Given the description of an element on the screen output the (x, y) to click on. 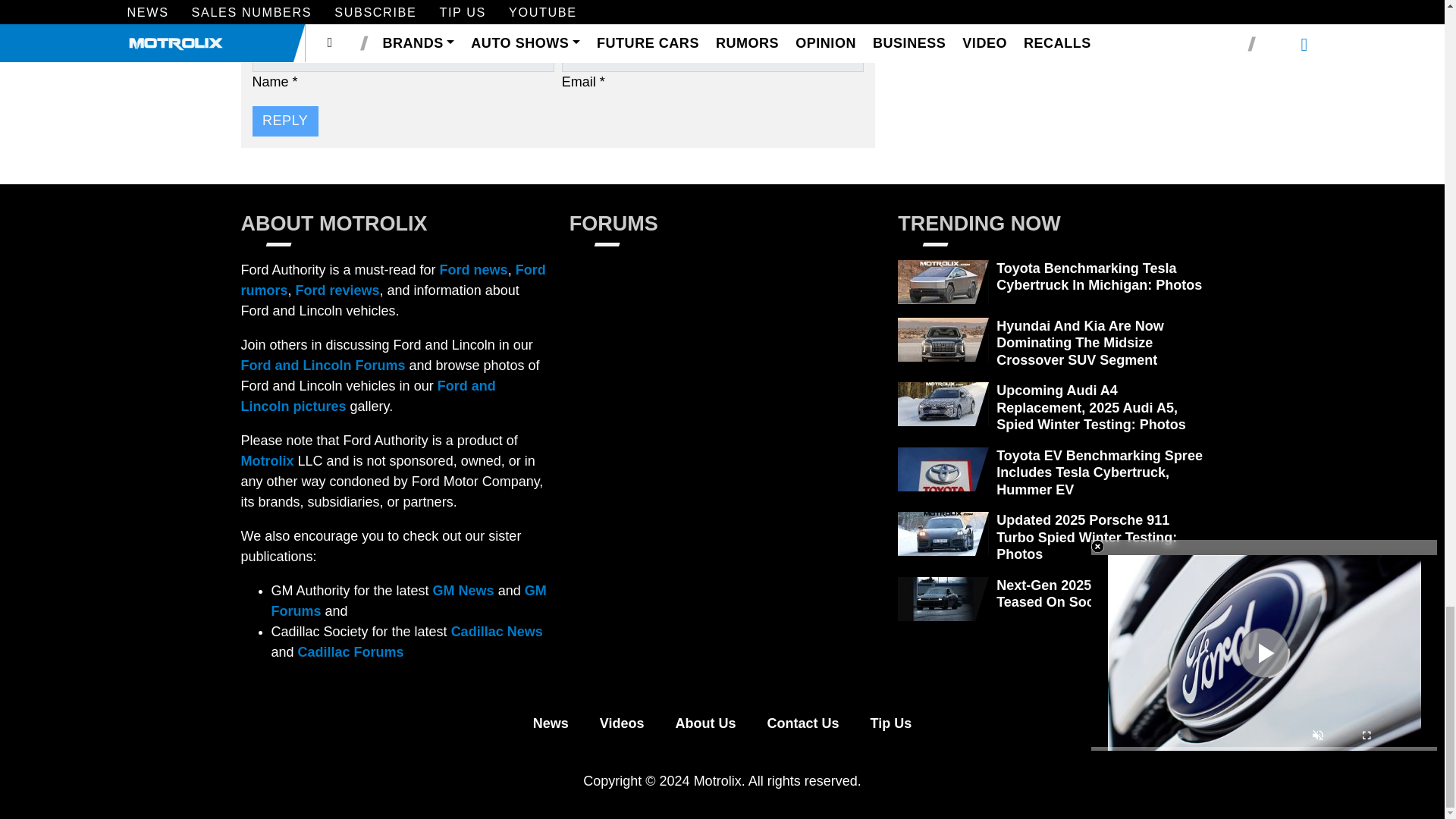
Reply (284, 121)
